Given the description of an element on the screen output the (x, y) to click on. 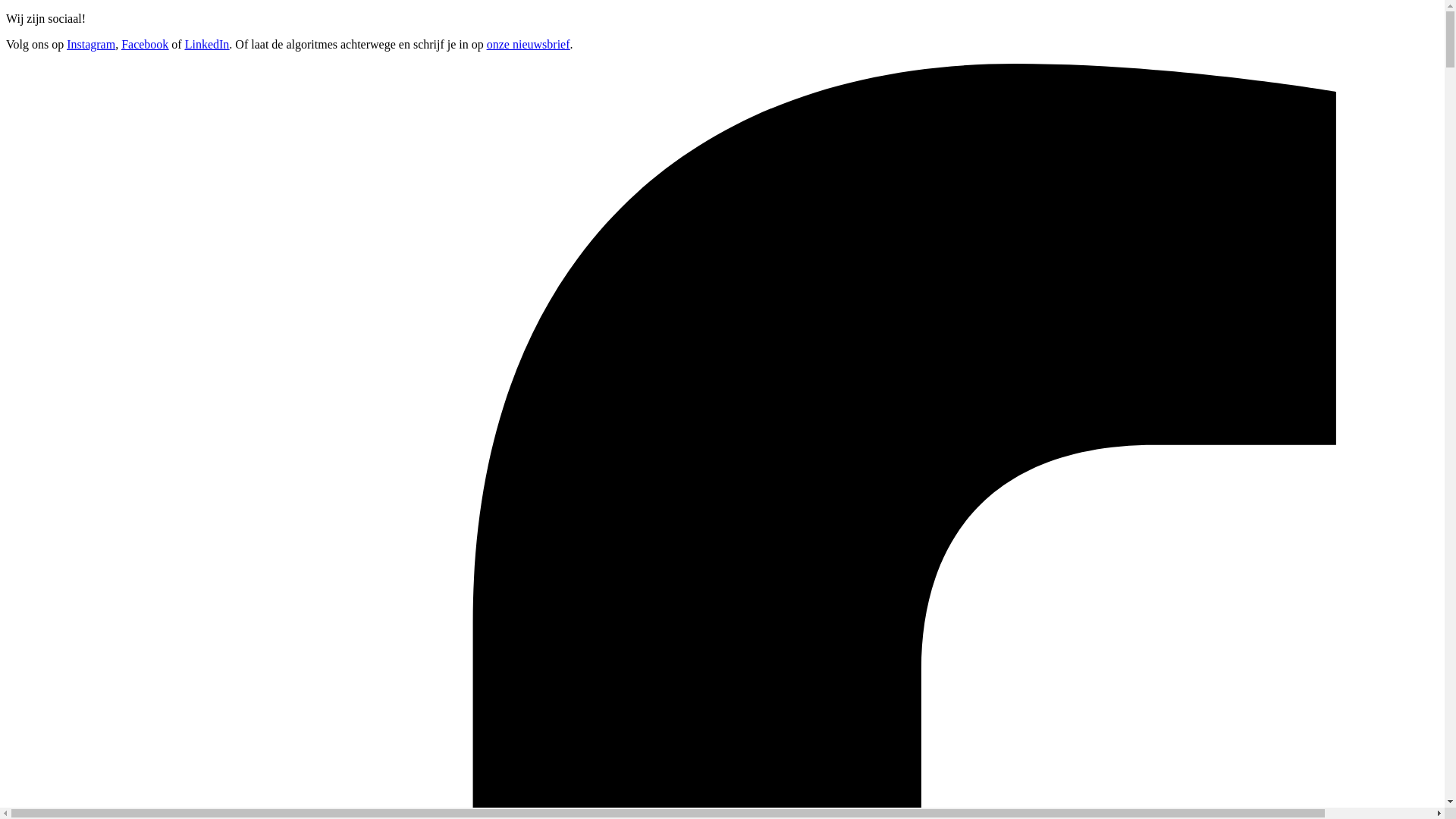
Instagram Element type: text (90, 43)
onze nieuwsbrief Element type: text (528, 43)
LinkedIn Element type: text (207, 43)
Facebook Element type: text (144, 43)
